Given the description of an element on the screen output the (x, y) to click on. 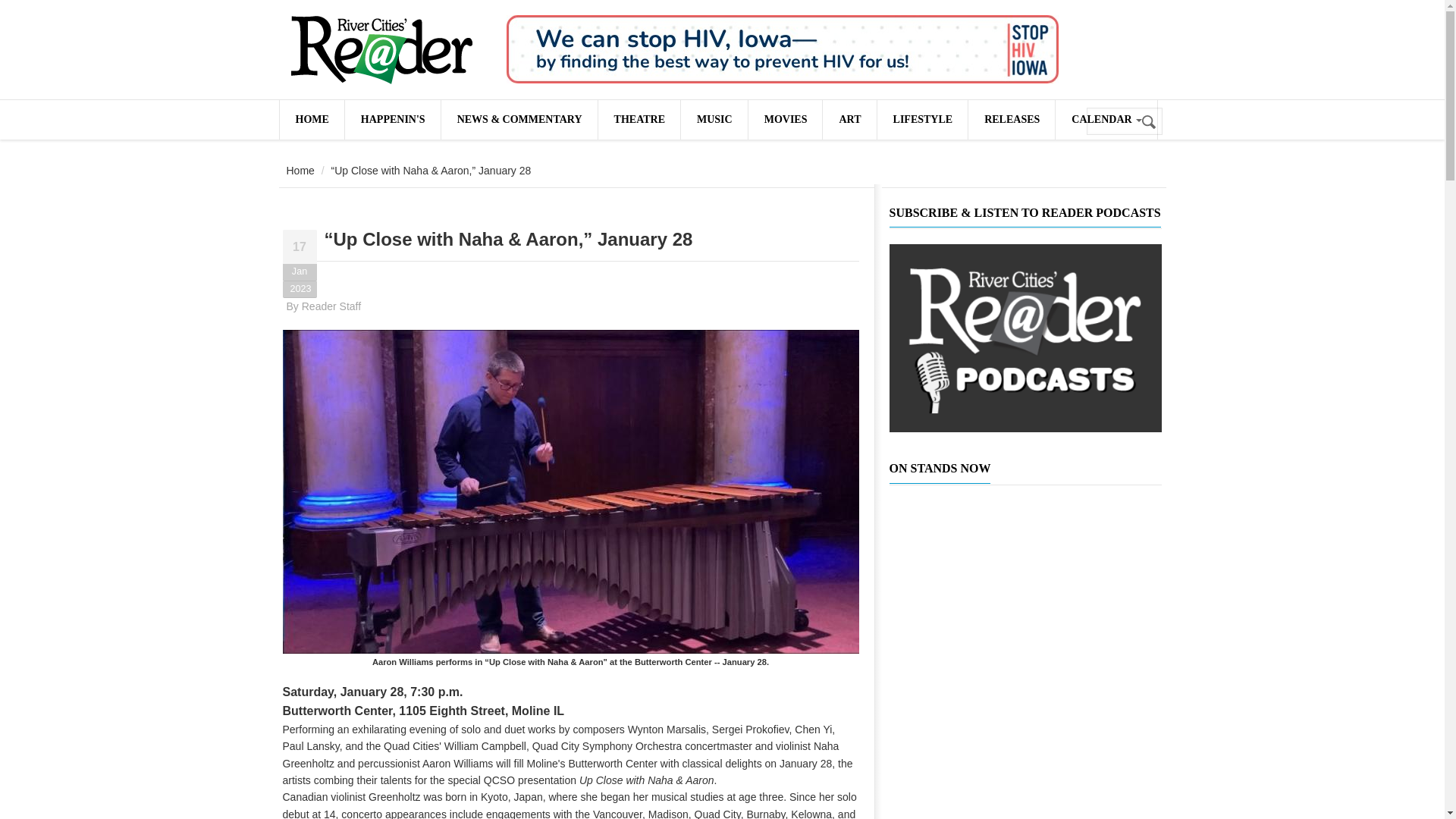
CALENDAR (1106, 119)
Search (1149, 122)
RELEASES (1011, 119)
Home (381, 49)
Calendar (1106, 119)
Reader Staff (331, 306)
ART (849, 119)
Music (714, 119)
What's Happenin' in the River Cities (393, 119)
News Releases (1011, 119)
Prevention (782, 49)
Home (300, 170)
LIFESTYLE (922, 119)
Movies (785, 119)
Art (849, 119)
